Given the description of an element on the screen output the (x, y) to click on. 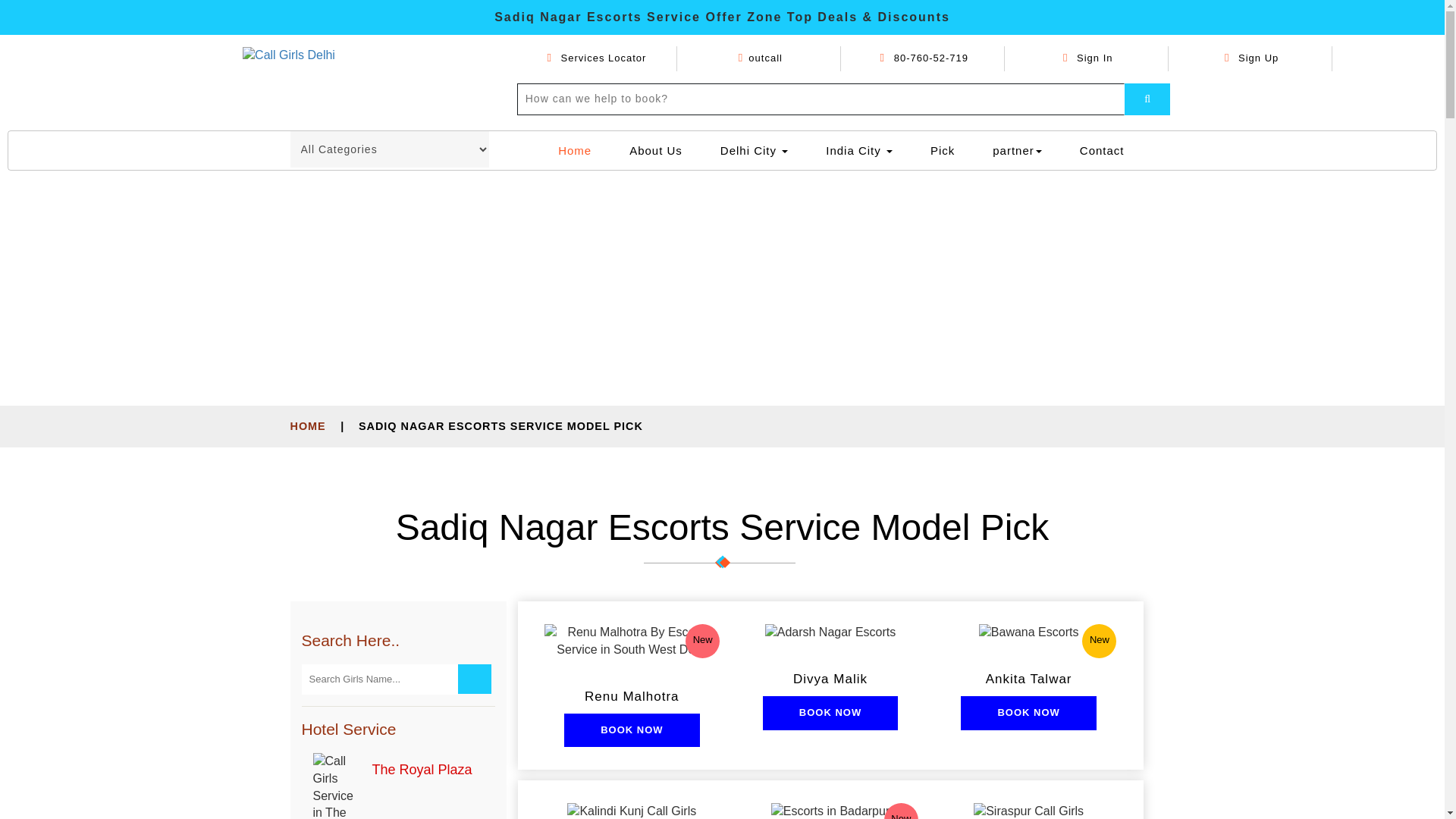
Book Now (1028, 713)
Services Locator (596, 57)
Book Now (830, 713)
outcall (760, 57)
Sign Up (1251, 57)
Book Now (631, 729)
Delhi City (753, 150)
Sign In (1087, 57)
About Us (655, 150)
